Given the description of an element on the screen output the (x, y) to click on. 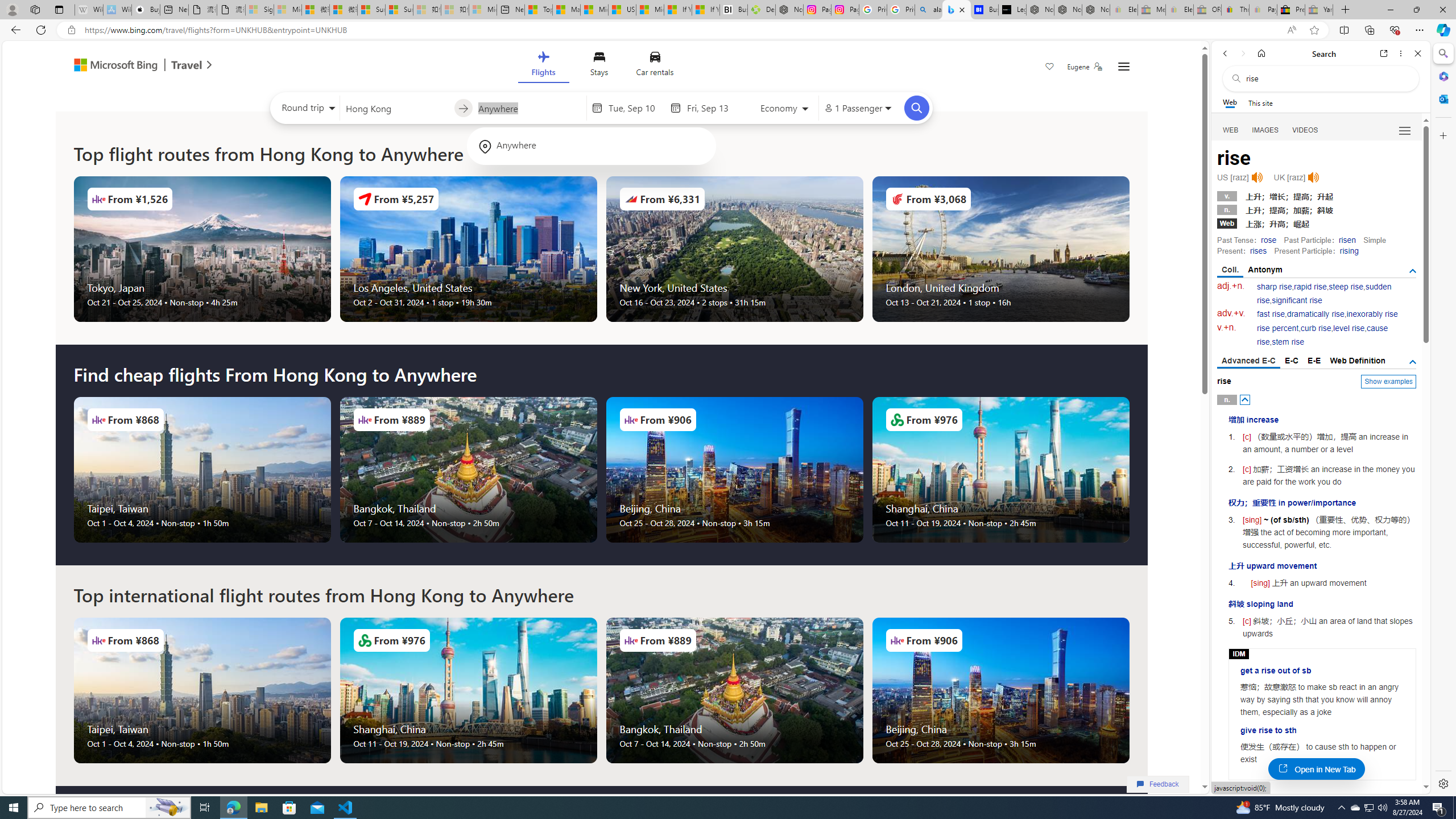
Microsoft Services Agreement - Sleeping (288, 9)
Anywhere (590, 145)
rise percent (1277, 328)
rises (1257, 250)
AutomationID: posbtn_1 (1245, 796)
Forward (1242, 53)
AutomationID: tgsb (1412, 270)
AutomationID: tgdef (1412, 362)
VIDEOS (1304, 130)
sharp rise (1274, 286)
Click to scroll right (1128, 690)
